Given the description of an element on the screen output the (x, y) to click on. 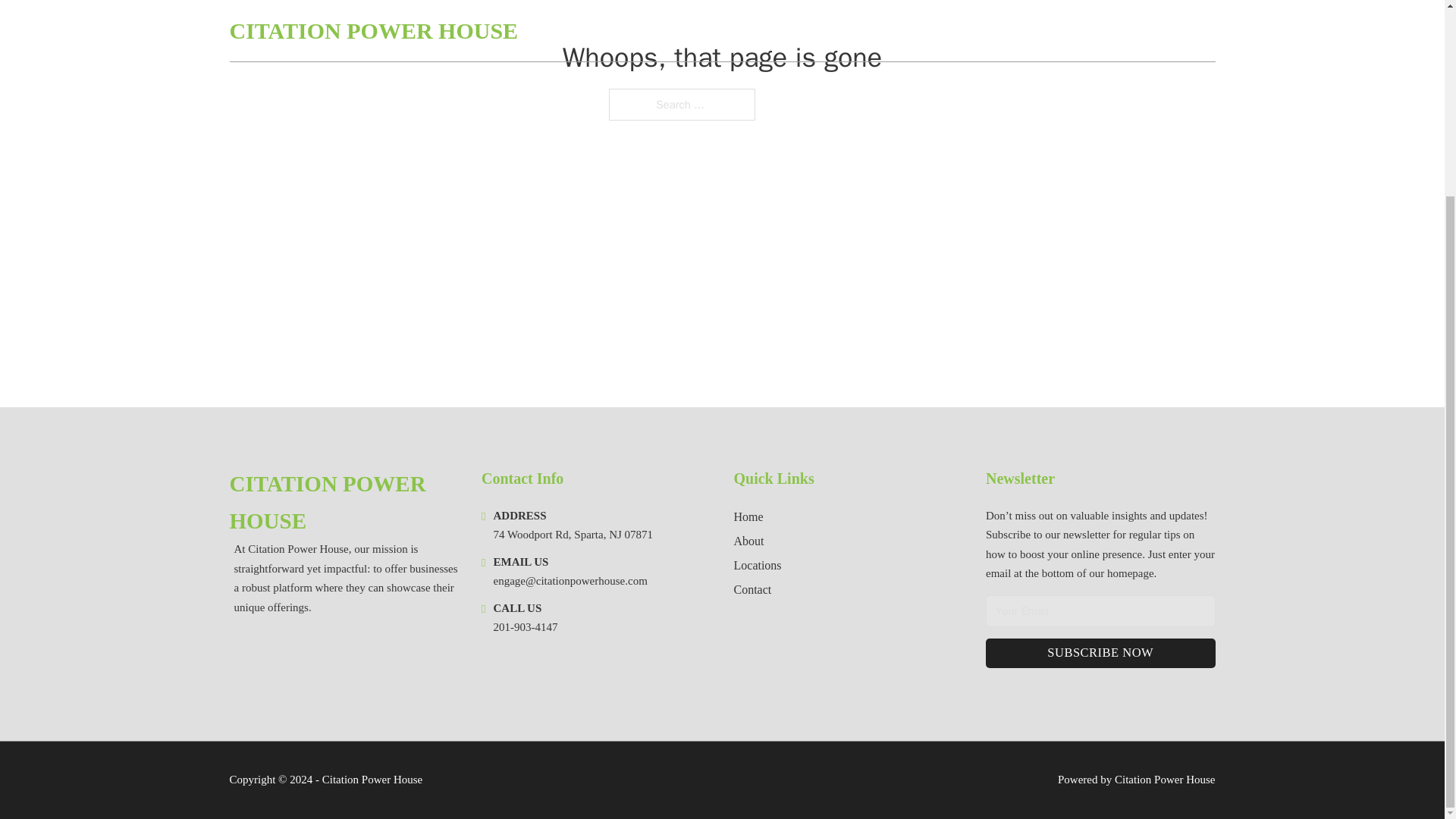
Home (747, 516)
Contact (752, 589)
Locations (757, 565)
201-903-4147 (525, 626)
About (748, 540)
SUBSCRIBE NOW (1100, 653)
CITATION POWER HOUSE (343, 503)
